Given the description of an element on the screen output the (x, y) to click on. 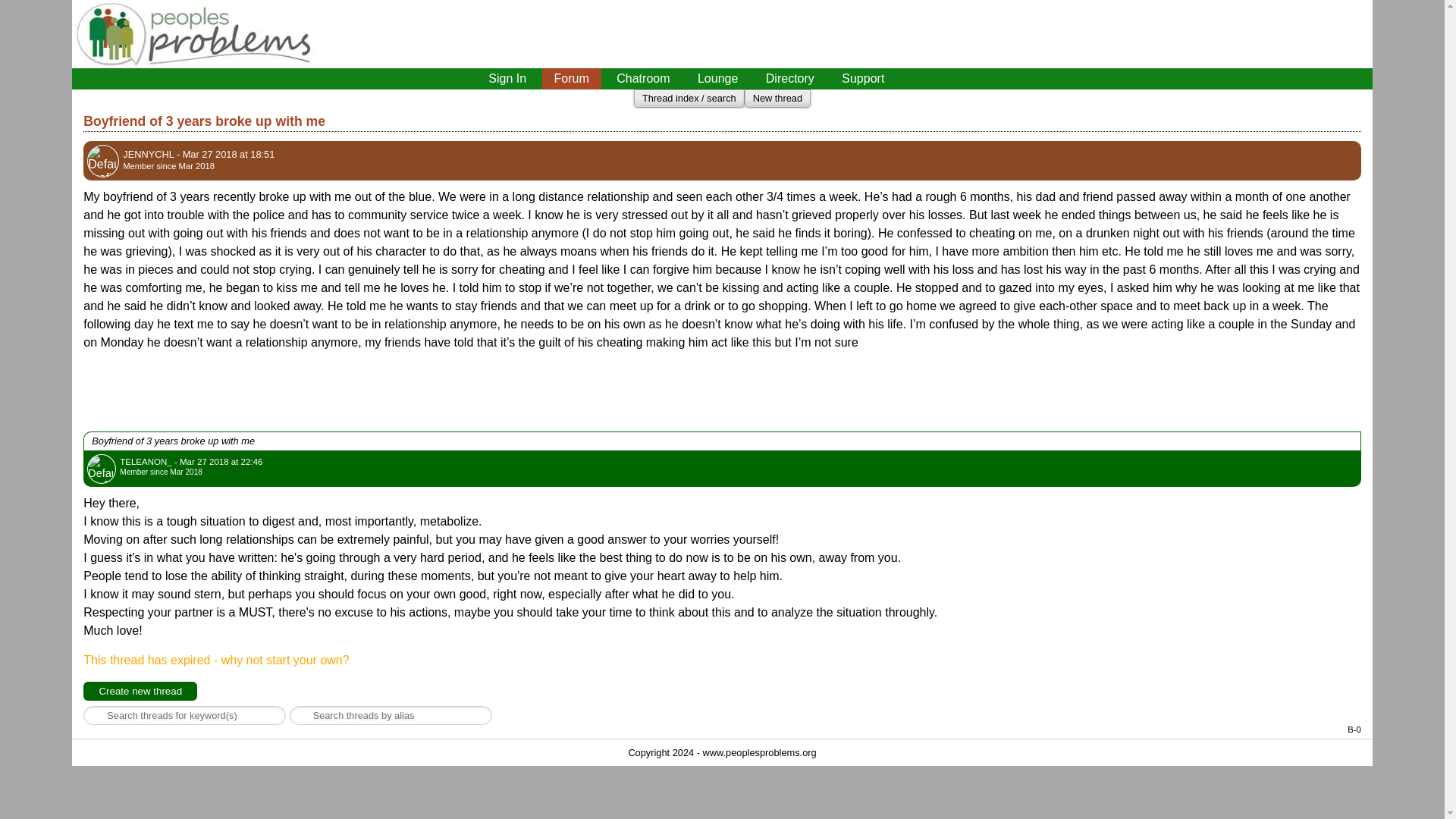
New thread (777, 98)
Lounge (717, 78)
Chatroom (642, 78)
Directory (790, 78)
Create new thread (139, 691)
Sign In (507, 78)
Forum (571, 78)
Support (862, 78)
